Given the description of an element on the screen output the (x, y) to click on. 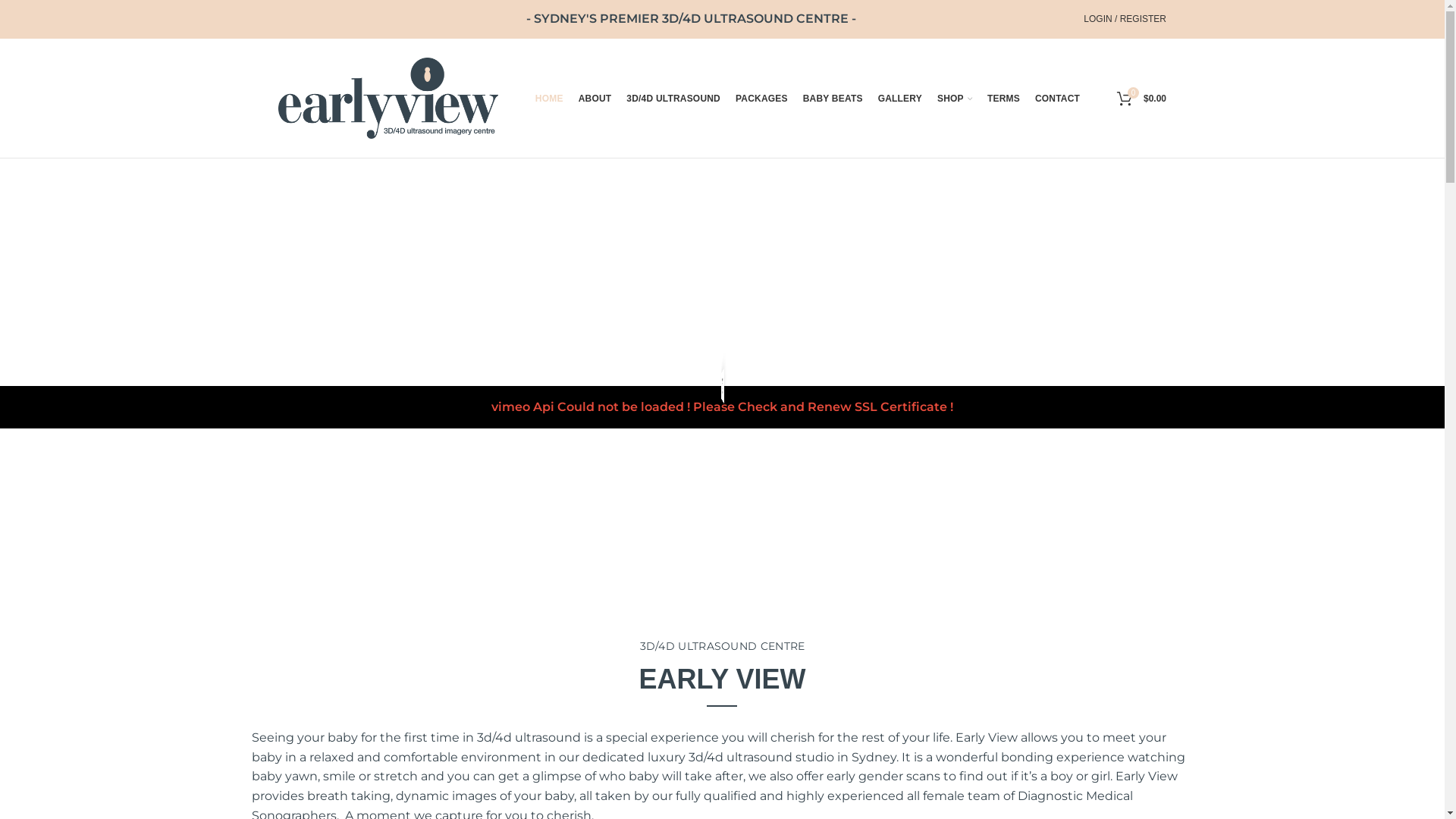
TERMS Element type: text (1003, 98)
ABOUT Element type: text (595, 98)
BABY BEATS Element type: text (832, 98)
SHOP Element type: text (954, 98)
Log in Element type: text (1040, 252)
LOGIN / REGISTER Element type: text (1124, 18)
GALLERY Element type: text (899, 98)
CONTACT Element type: text (1057, 98)
HOME Element type: text (549, 98)
3D/4D ULTRASOUND Element type: text (673, 98)
PACKAGES Element type: text (761, 98)
0
$0.00 Element type: text (1141, 98)
